Given the description of an element on the screen output the (x, y) to click on. 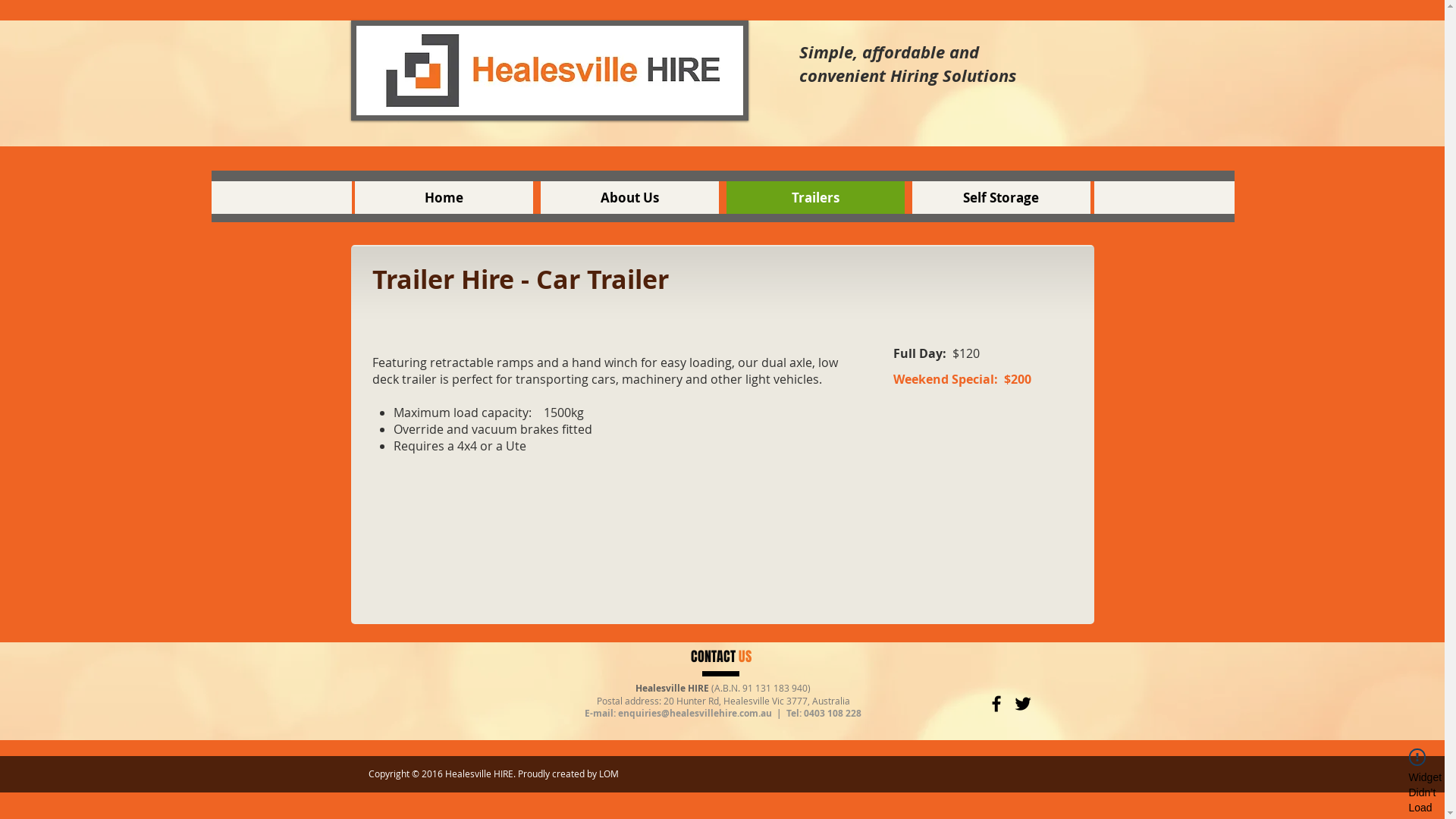
About Us Element type: text (628, 197)
Trailers Element type: text (815, 197)
Home Element type: text (443, 197)
Healesville Hire Logo JPEG.jpg Element type: hover (548, 70)
Self Storage Element type: text (1000, 197)
enquiries@healesvillehire.com.au Element type: text (694, 712)
